Given the description of an element on the screen output the (x, y) to click on. 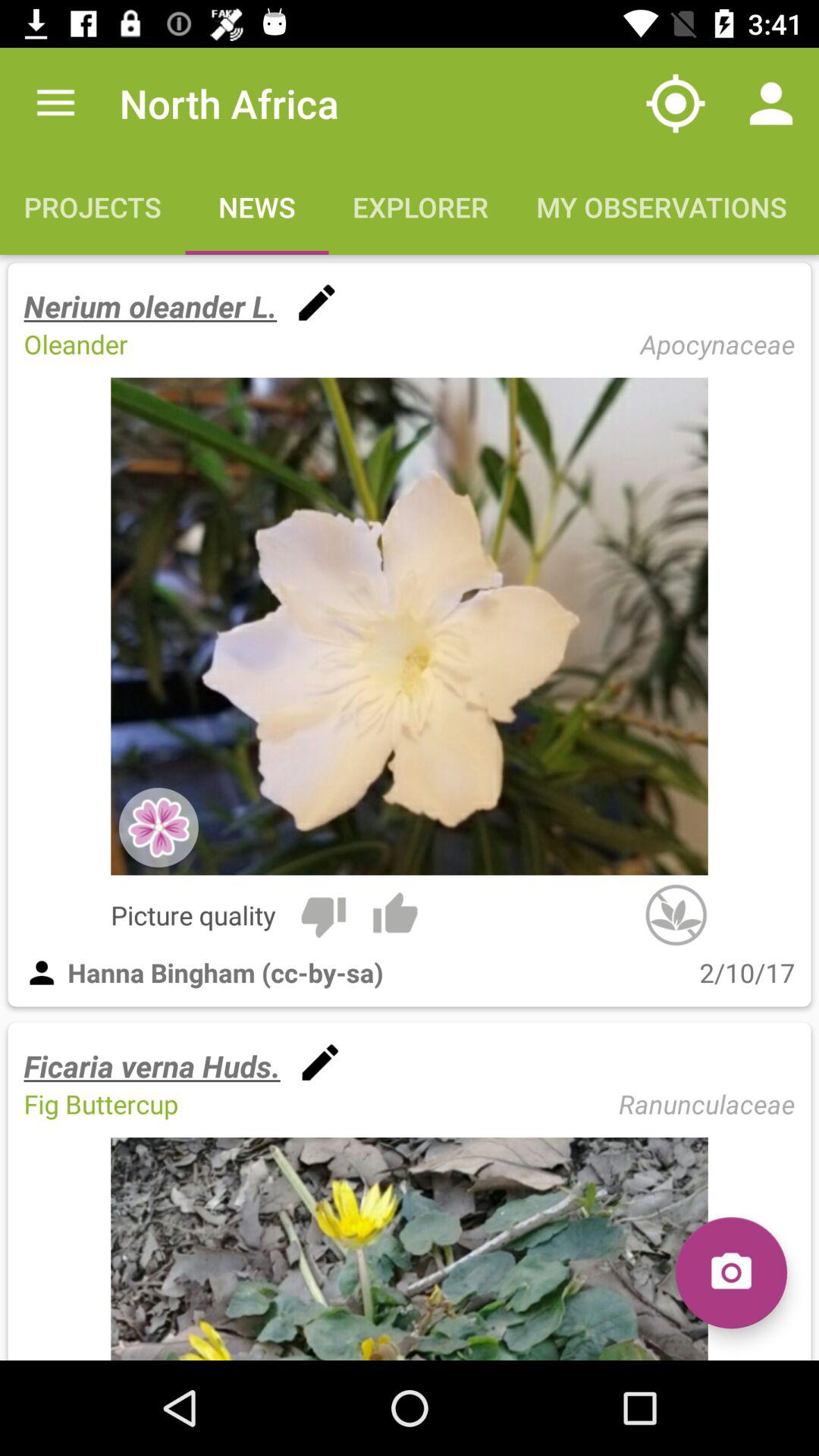
launch app next to north africa icon (55, 103)
